Given the description of an element on the screen output the (x, y) to click on. 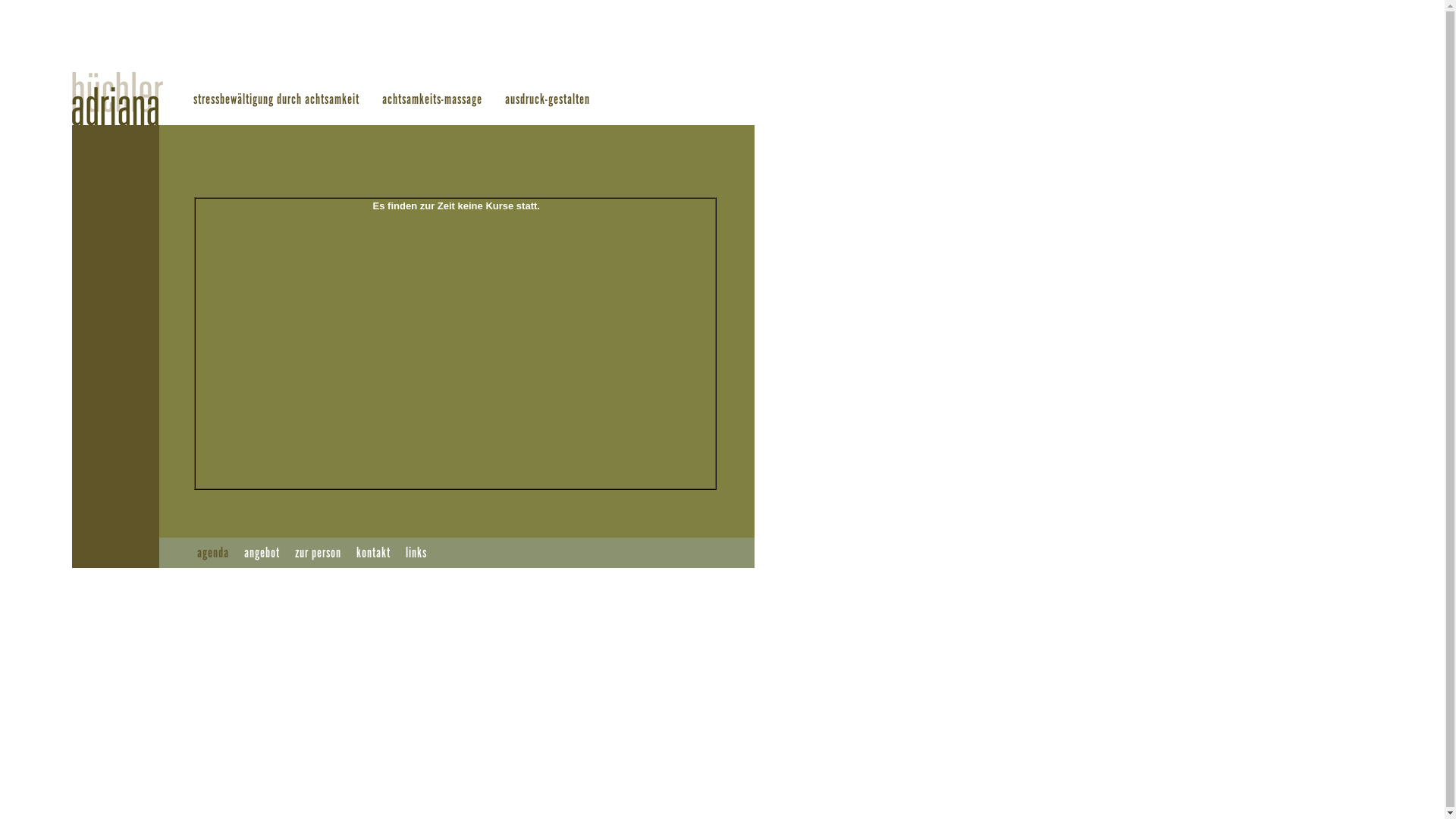
links Element type: text (415, 553)
achtsamkeits-massage Element type: text (432, 100)
kontakt Element type: text (373, 553)
angebot Element type: text (261, 553)
zur person Element type: text (317, 553)
agenda Element type: text (213, 553)
ausdruck-gestalten Element type: text (547, 100)
